Given the description of an element on the screen output the (x, y) to click on. 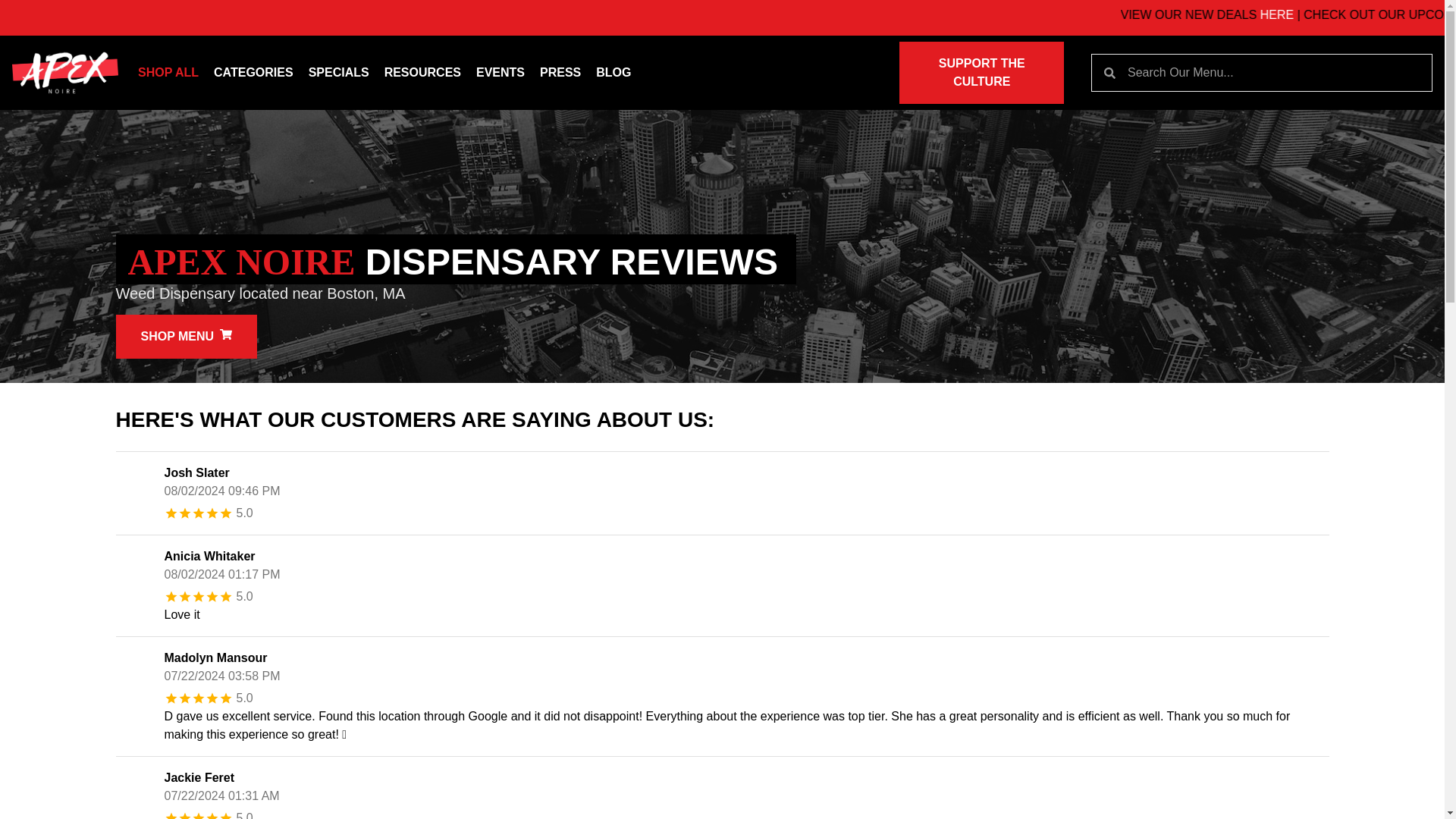
PRESS (560, 72)
SPECIALS (339, 72)
CATEGORIES (253, 72)
SHOP ALL (168, 72)
RESOURCES (422, 72)
EVENTS (500, 72)
BLOG (613, 72)
Shop Menu (186, 336)
AN-Logo-Wht (64, 72)
